Given the description of an element on the screen output the (x, y) to click on. 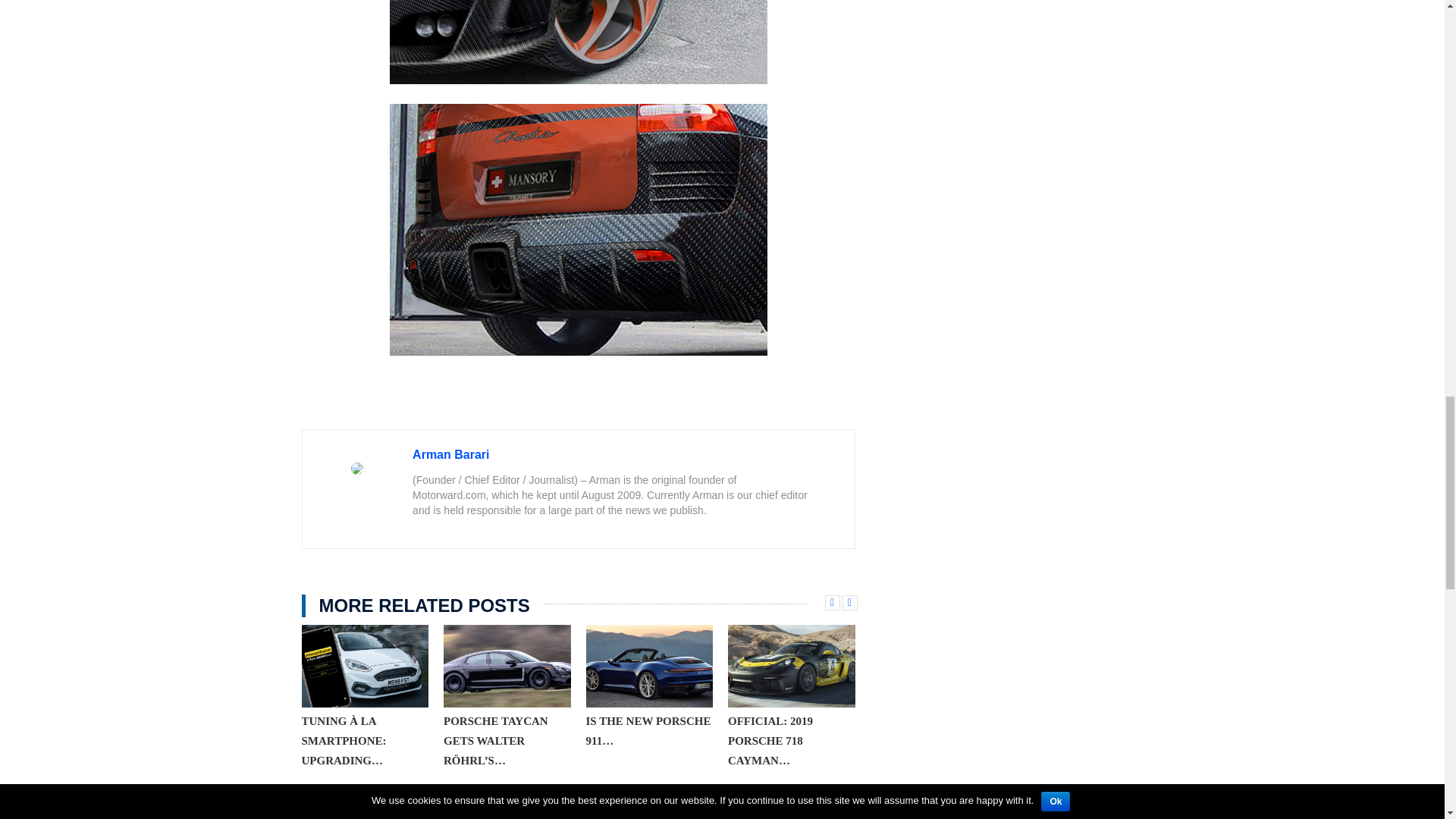
Posts by Arman Barari (450, 453)
mansory chopster 4 (578, 228)
mansory chopster 3 (578, 42)
Porsche 718 Cayman GT4 Clubsport 3 550x360 (792, 666)
porsche 992 cabrio 6 550x360 (649, 666)
m225 1 550x360 (365, 666)
